Given the description of an element on the screen output the (x, y) to click on. 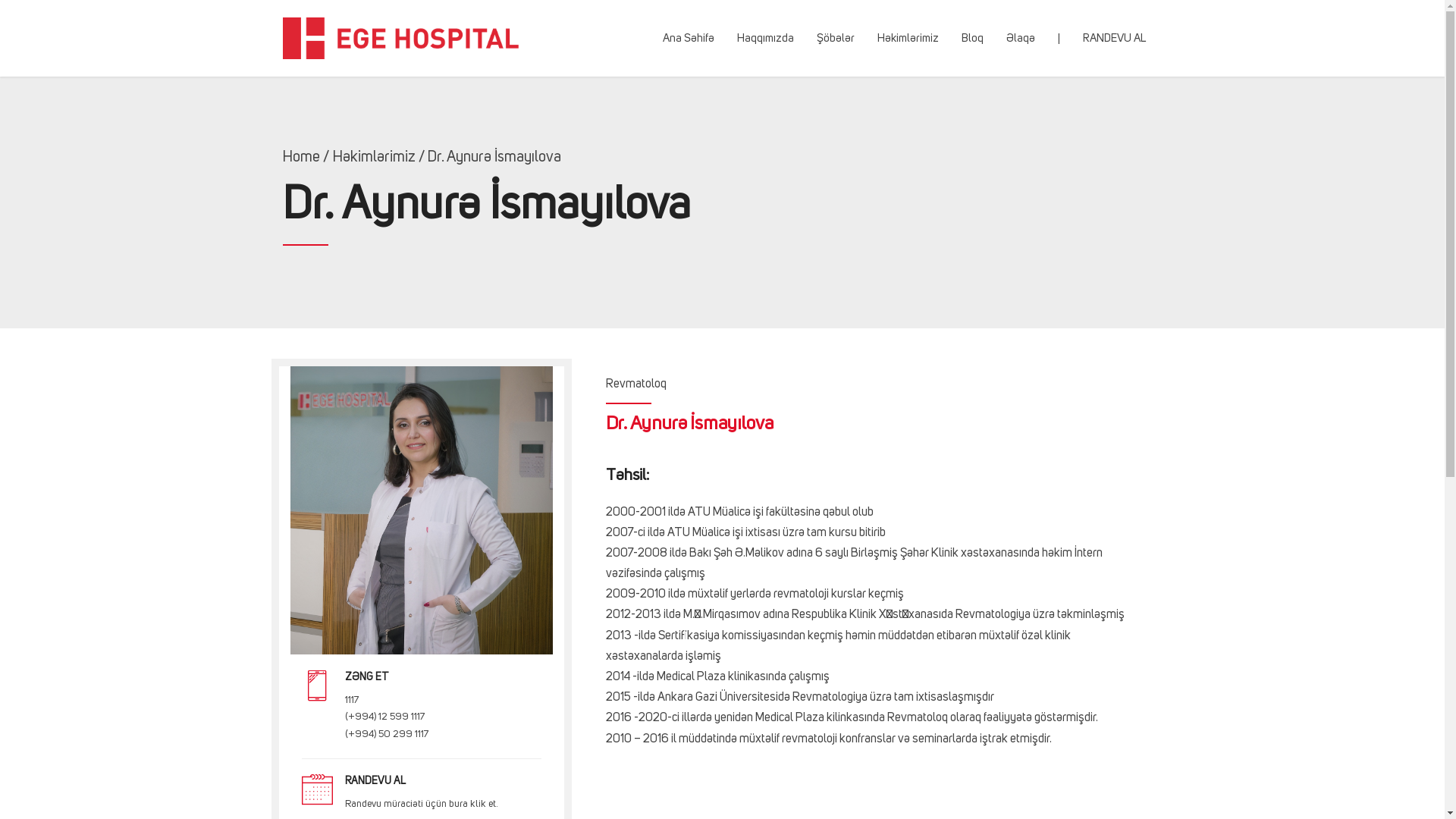
RANDEVU AL Element type: text (1113, 38)
Home Element type: text (300, 157)
| Element type: text (1058, 38)
1117 Element type: text (351, 700)
(+994) 12 599 1117 Element type: text (384, 716)
(+994) 50 299 1117 Element type: text (386, 734)
Bloq Element type: text (972, 38)
